Given the description of an element on the screen output the (x, y) to click on. 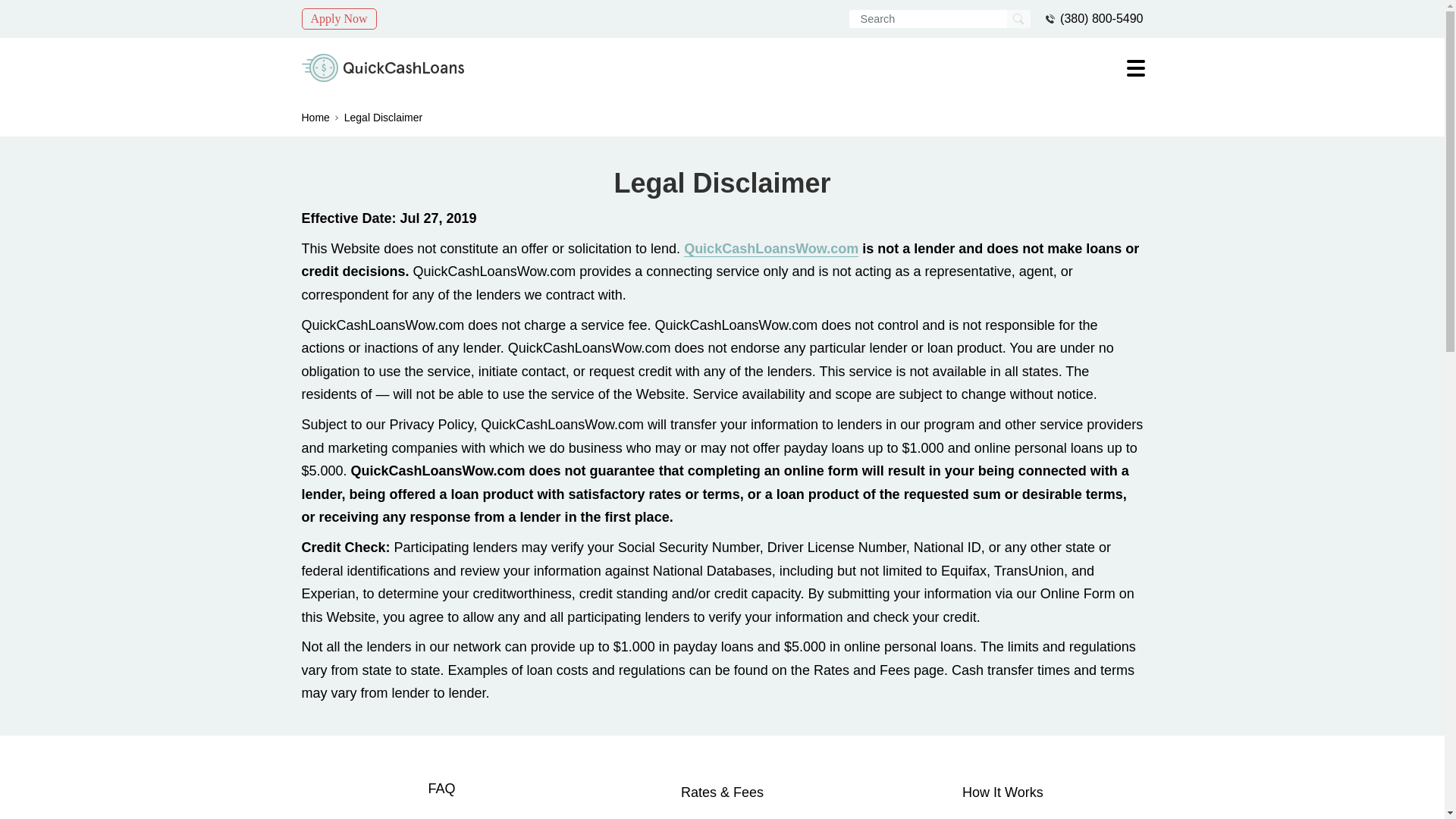
FAQ (441, 788)
Apply Now (339, 18)
How It Works (1002, 792)
Home (315, 117)
QuickCashLoansWow.com (771, 248)
